Given the description of an element on the screen output the (x, y) to click on. 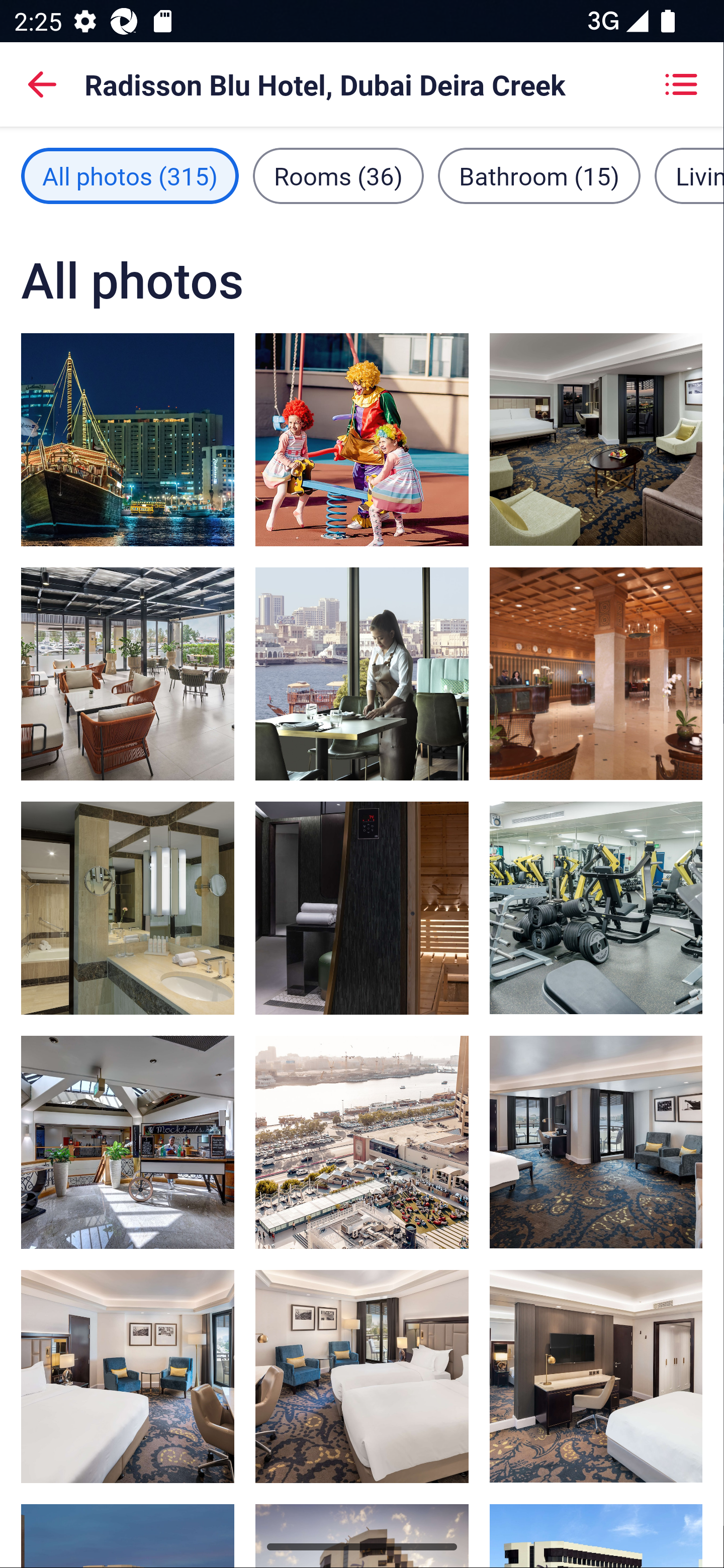
Back (42, 84)
Showing grid view (681, 84)
All photos filter, 315 images (129, 175)
Rooms filter, 36 images (337, 175)
Bathroom filter, 15 images (539, 175)
Living area filter, 7 images (688, 175)
Children's play area - outdoor, image (361, 438)
Cafe, image (127, 673)
Lobby, image (595, 673)
Gym, image (595, 907)
Terrace/patio, image (361, 1142)
